Given the description of an element on the screen output the (x, y) to click on. 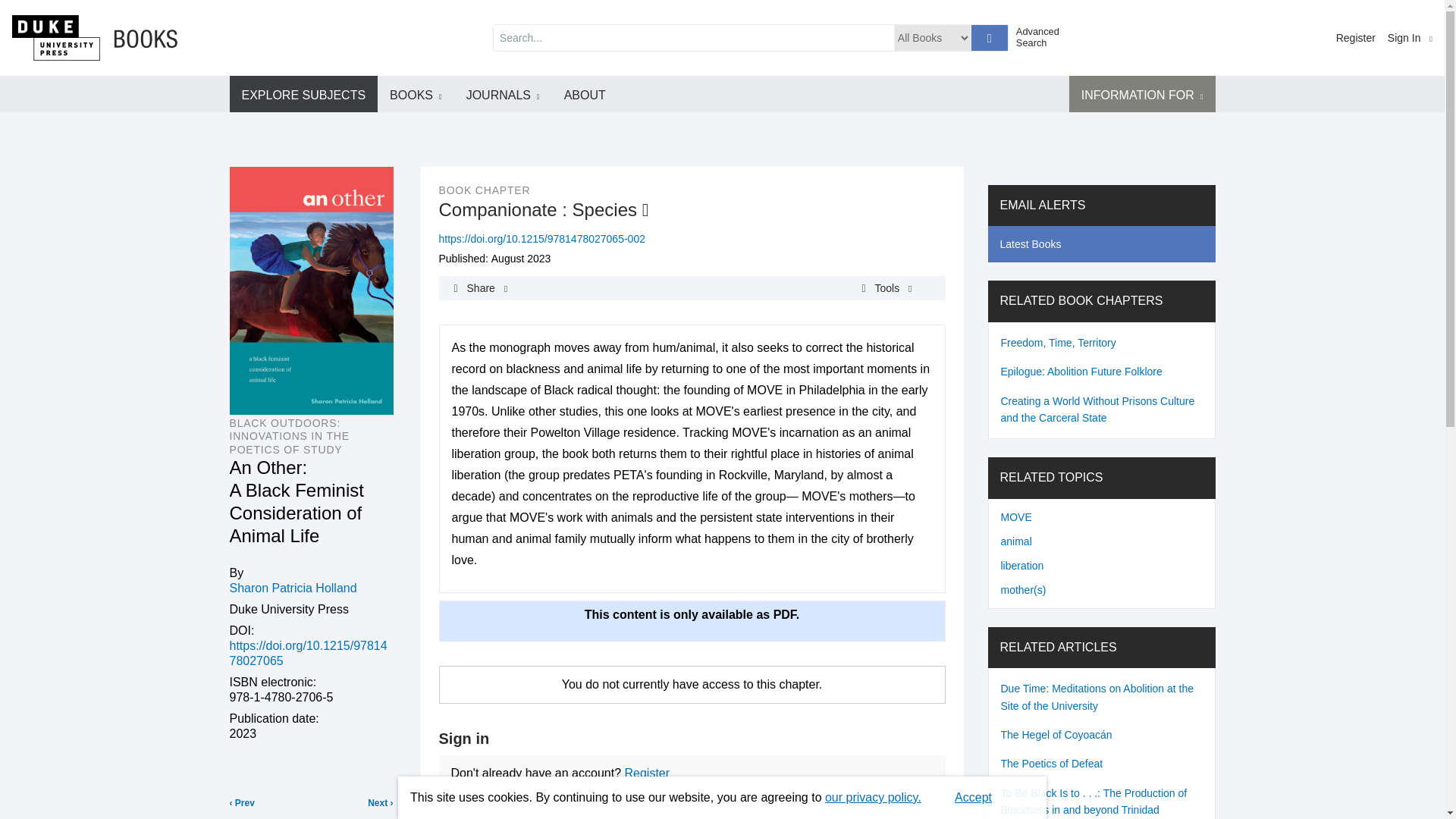
Advanced Search (1043, 37)
search input (693, 37)
JOURNALS (502, 94)
EXPLORE SUBJECTS (302, 94)
BOOKS (415, 94)
Sign In (1409, 37)
Register (1355, 37)
